Given the description of an element on the screen output the (x, y) to click on. 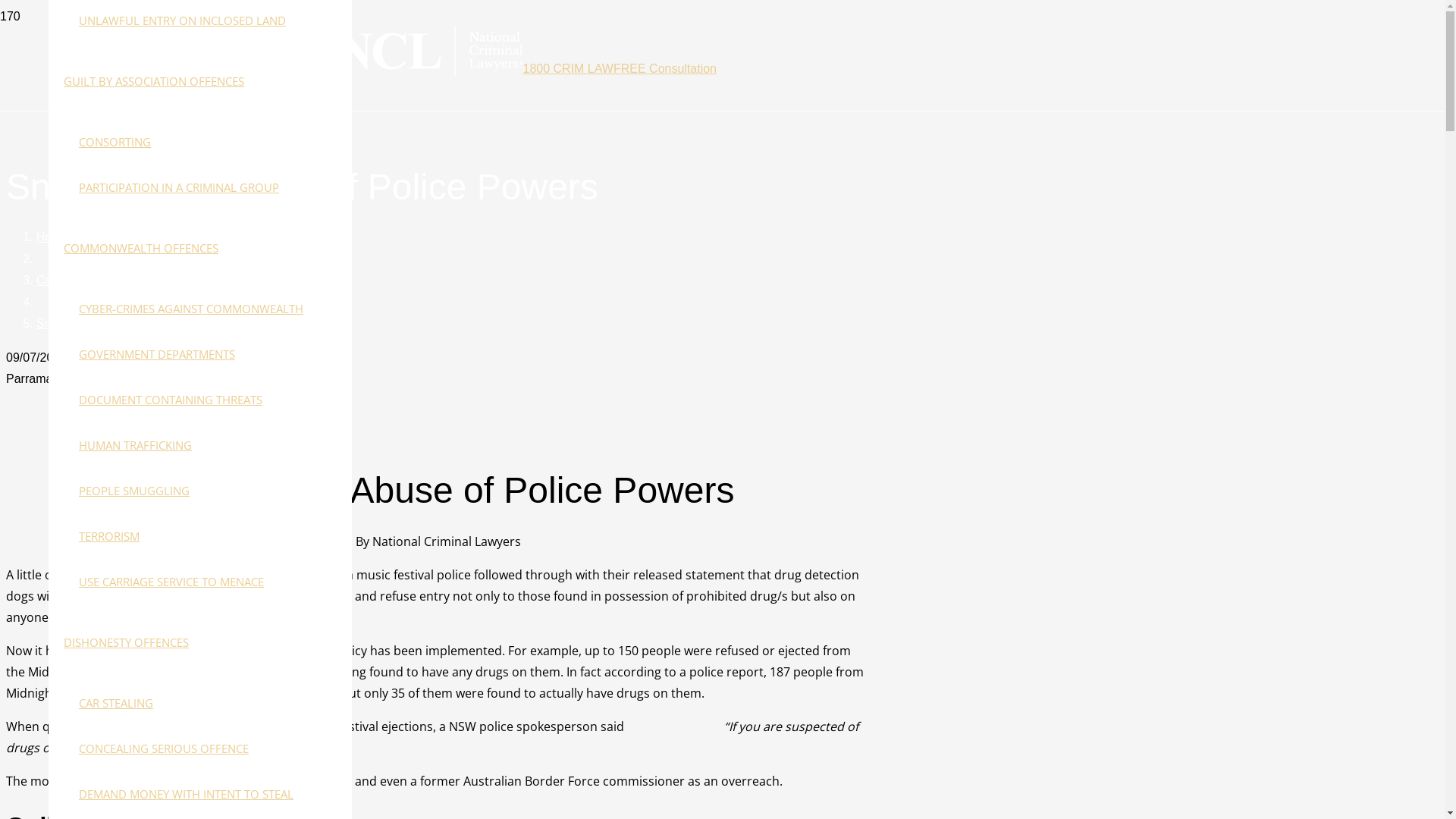
UNLAWFUL ENTRY ON INCLOSED LAND Element type: text (181, 20)
CAR STEALING Element type: text (115, 702)
TERRORISM Element type: text (108, 535)
DOCUMENT CONTAINING THREATS Element type: text (170, 399)
Case Study Element type: text (67, 279)
HUMAN TRAFFICKING Element type: text (134, 444)
Pill testing Element type: text (186, 574)
PARTICIPATION IN A CRIMINAL GROUP Element type: text (178, 186)
GUILT BY ASSOCIATION OFFENCES Element type: text (153, 80)
FREE Consultation Element type: text (664, 68)
1800 CRIM LAW Element type: text (568, 68)
USE CARRIAGE SERVICE TO MENACE Element type: text (170, 581)
DEMAND MONEY WITH INTENT TO STEAL Element type: text (185, 793)
PEOPLE SMUGGLING Element type: text (133, 490)
COMMONWEALTH OFFENCES Element type: text (140, 247)
CYBER-CRIMES AGAINST COMMONWEALTH GOVERNMENT DEPARTMENTS Element type: text (190, 331)
CONSORTING Element type: text (114, 141)
DISHONESTY OFFENCES Element type: text (125, 641)
CONCEALING SERIOUS OFFENCE Element type: text (163, 748)
Home Element type: text (52, 236)
